Given the description of an element on the screen output the (x, y) to click on. 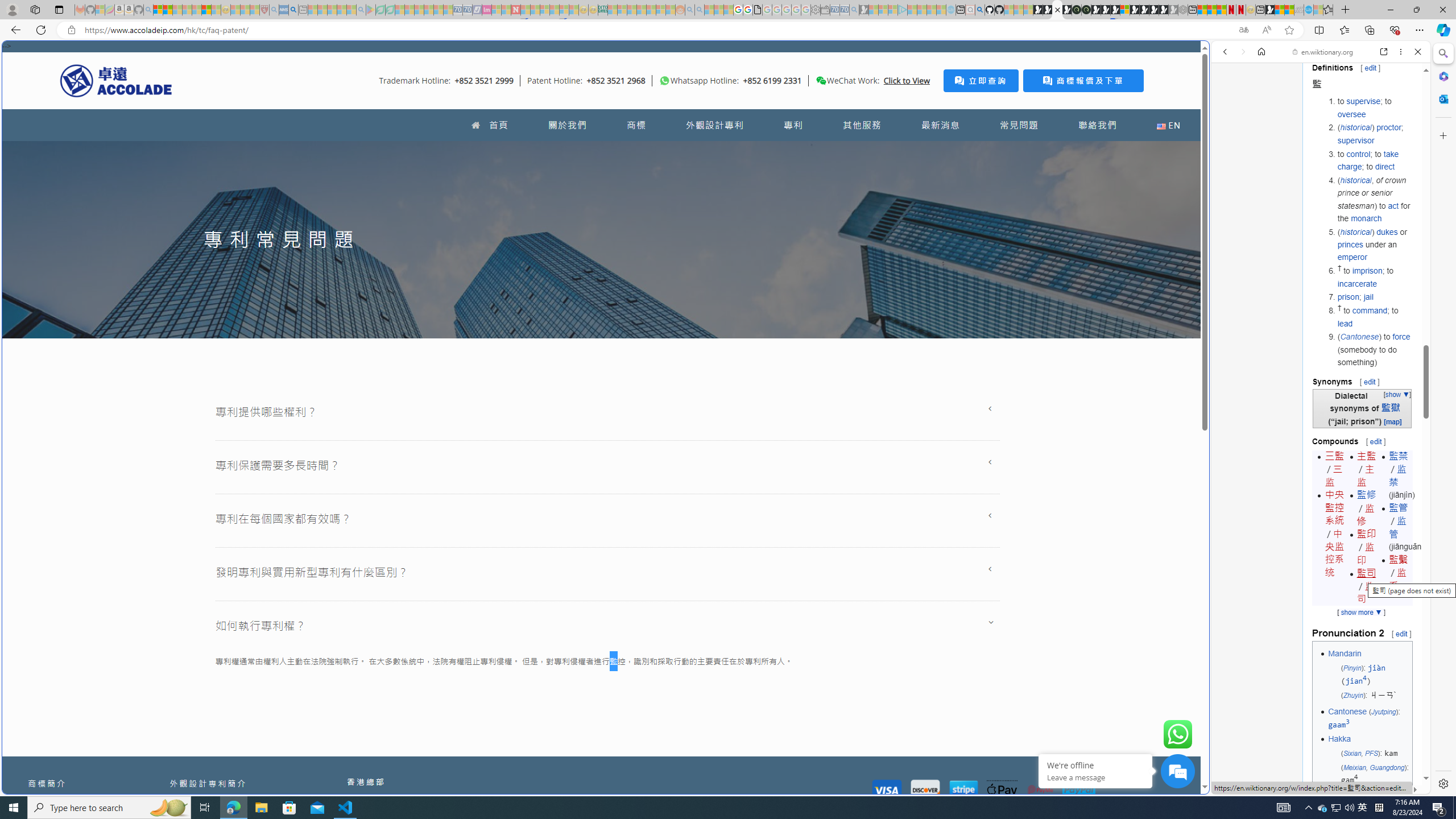
Pets - MSN - Sleeping (340, 9)
Search Filter, WEB (1230, 129)
Search Filter, VIDEOS (1300, 129)
Accolade IP HK Logo (116, 80)
DITOGAMES AG Imprint (602, 9)
Global web icon (1232, 786)
